Given the description of an element on the screen output the (x, y) to click on. 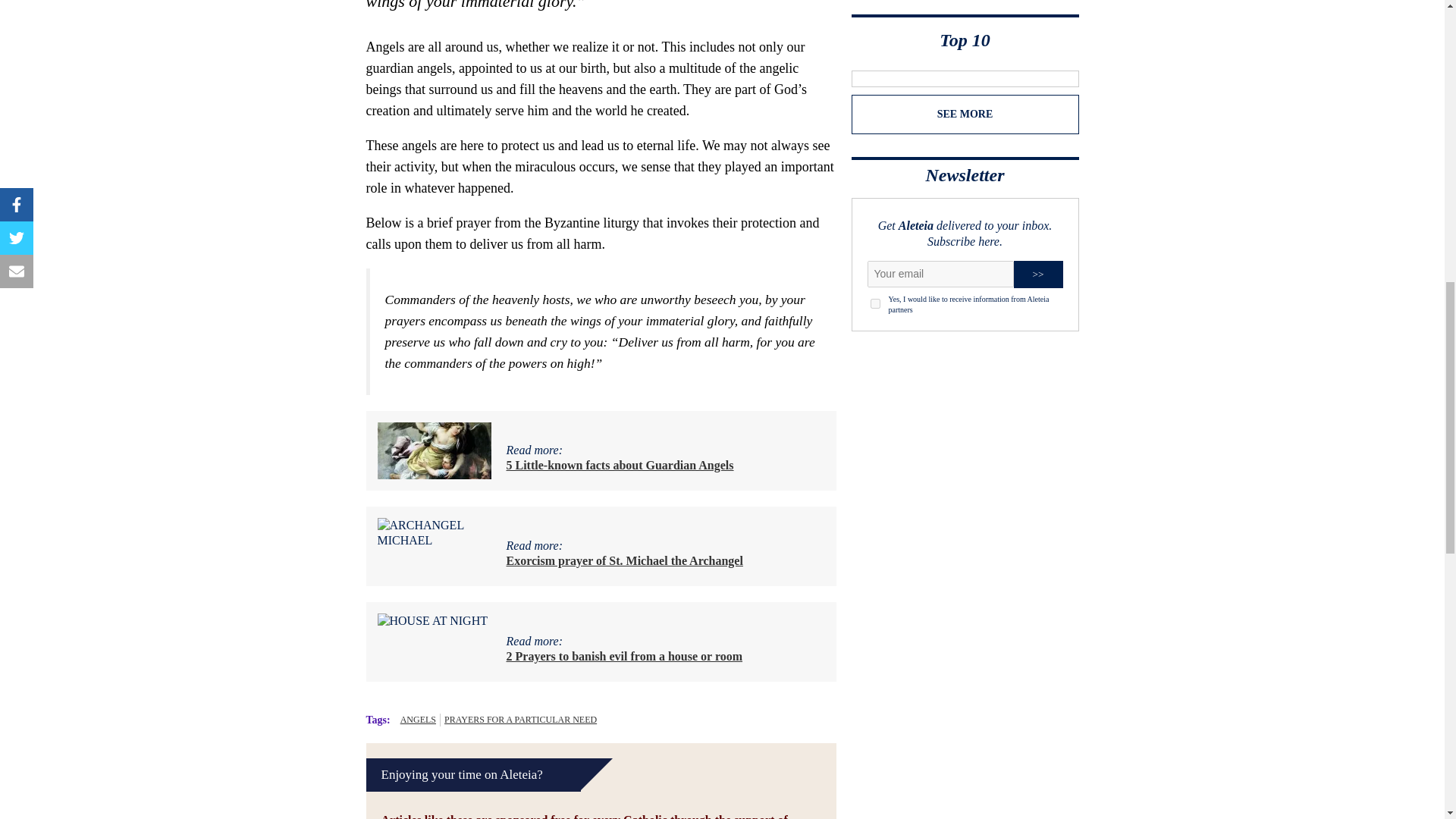
5 Little-known facts about Guardian Angels (619, 464)
Exorcism prayer of St. Michael the Archangel (624, 560)
1 (875, 303)
